Given the description of an element on the screen output the (x, y) to click on. 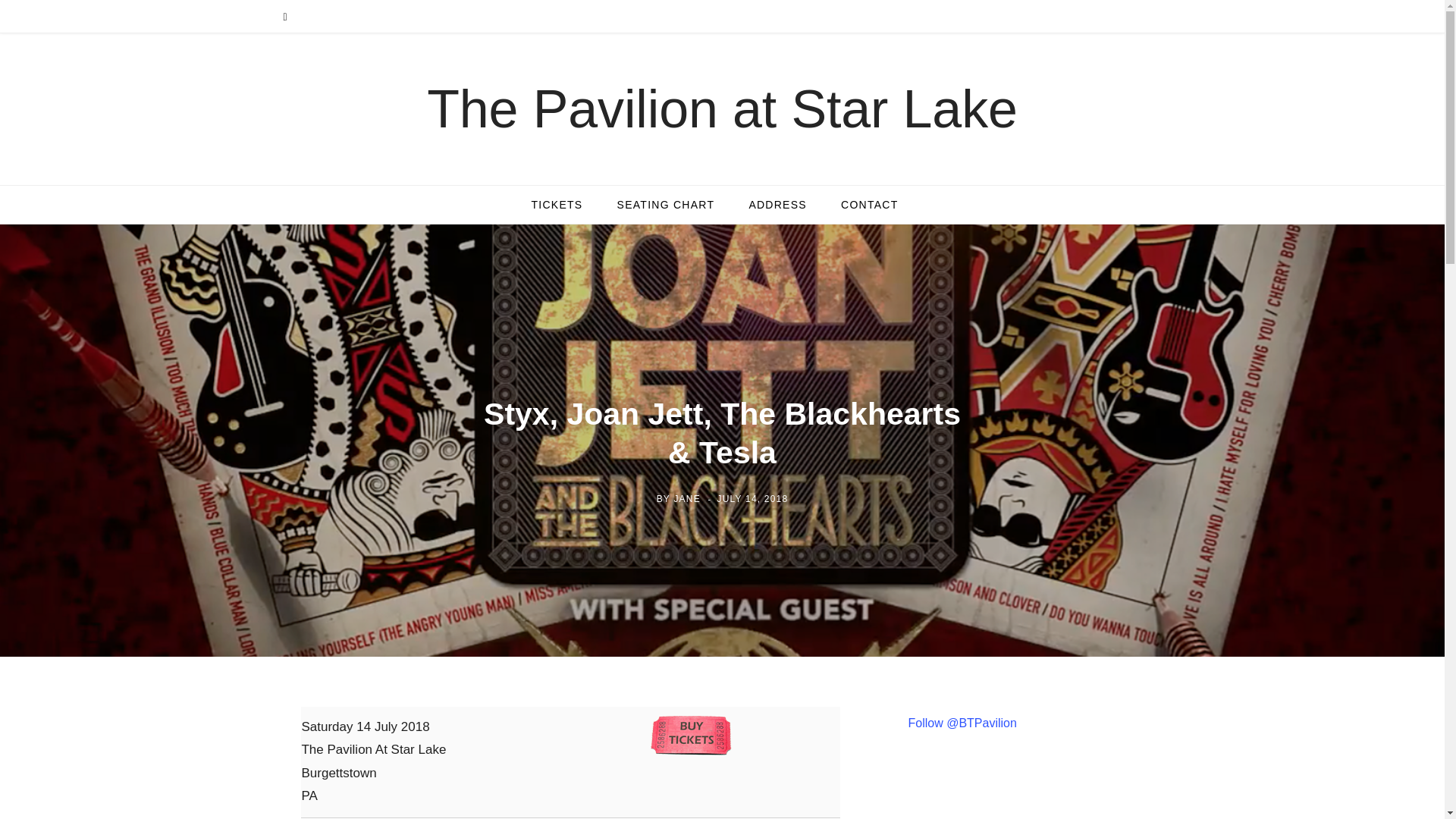
Posts by jane (686, 498)
TICKETS (555, 204)
Advertisement (1037, 795)
CONTACT (868, 204)
The Pavilion at Star Lake Seating Chart (666, 204)
The Pavilion at Star Lake (721, 108)
The Pavilion at Star Lake Address (777, 204)
SEATING CHART (666, 204)
The Pavilion at Star Lake (721, 108)
The Pavilion at Star Lake Tickets (555, 204)
